Given the description of an element on the screen output the (x, y) to click on. 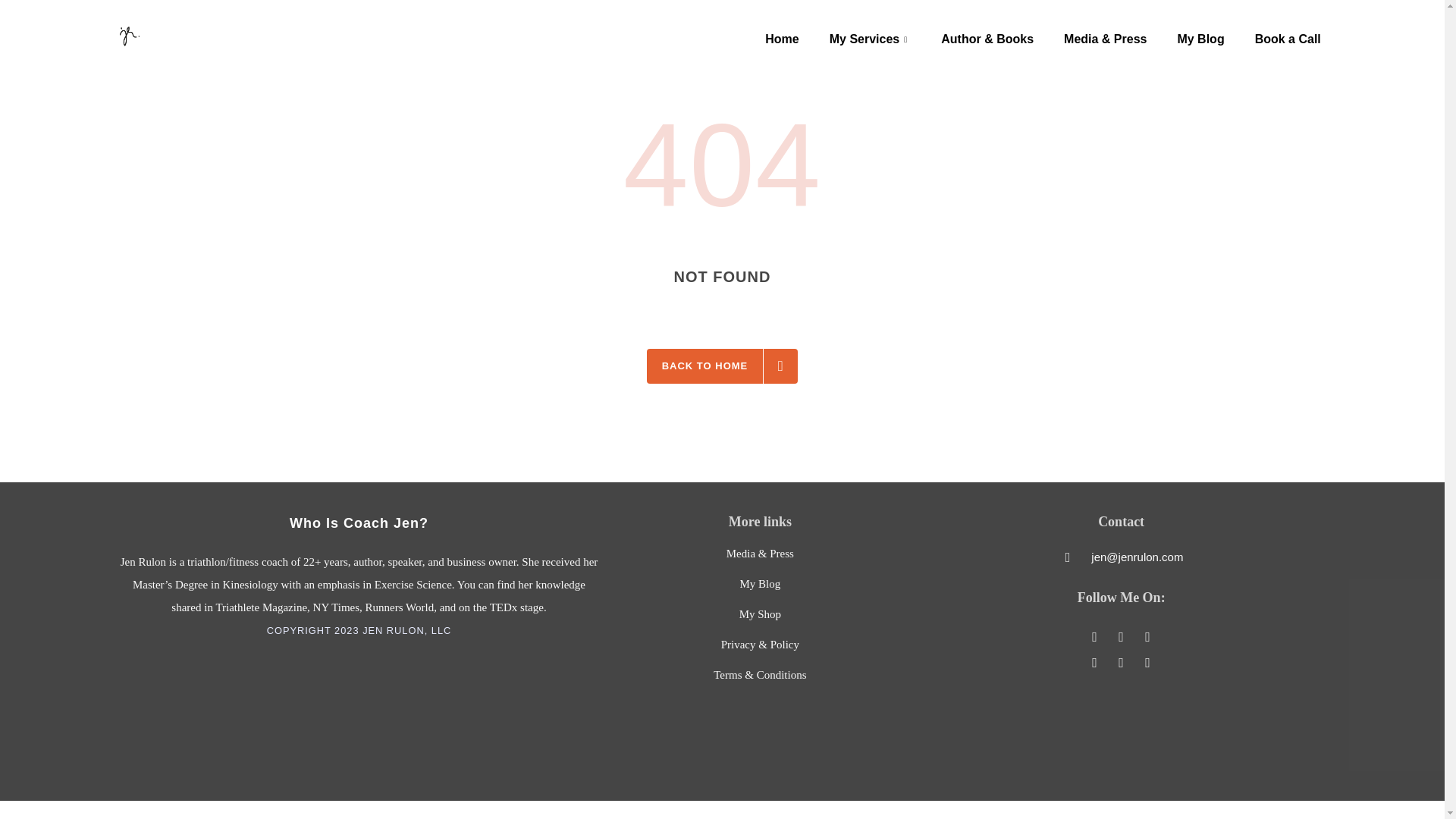
My Services (721, 366)
My Blog (869, 39)
My Blog (1200, 39)
Home (759, 583)
My Blog (781, 39)
Front Page (759, 583)
My Shop (781, 39)
Book a Call (759, 613)
